Given the description of an element on the screen output the (x, y) to click on. 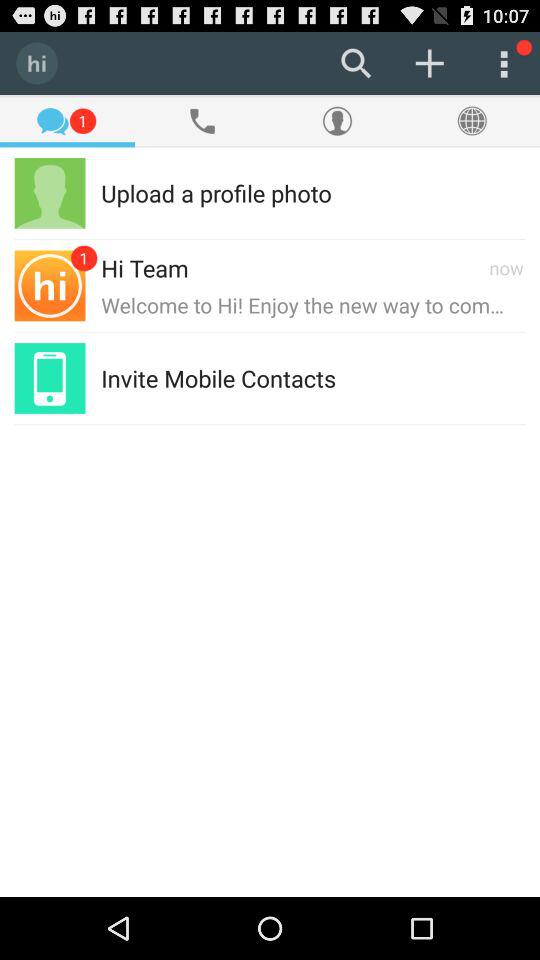
turn on the item below the 1 (216, 192)
